Given the description of an element on the screen output the (x, y) to click on. 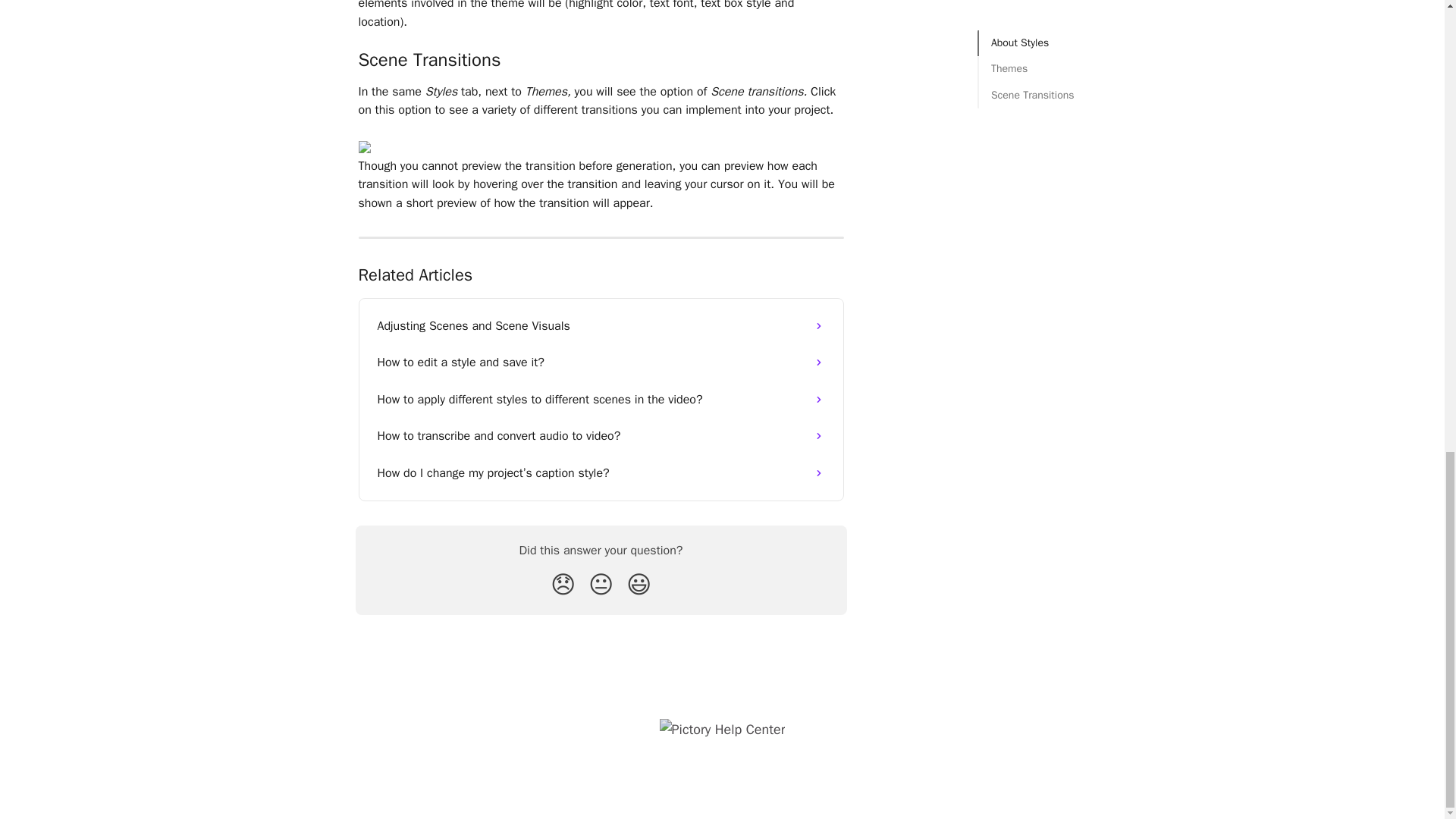
Adjusting Scenes and Scene Visuals (601, 325)
How to edit a style and save it? (601, 361)
How to transcribe and convert audio to video? (601, 435)
